Given the description of an element on the screen output the (x, y) to click on. 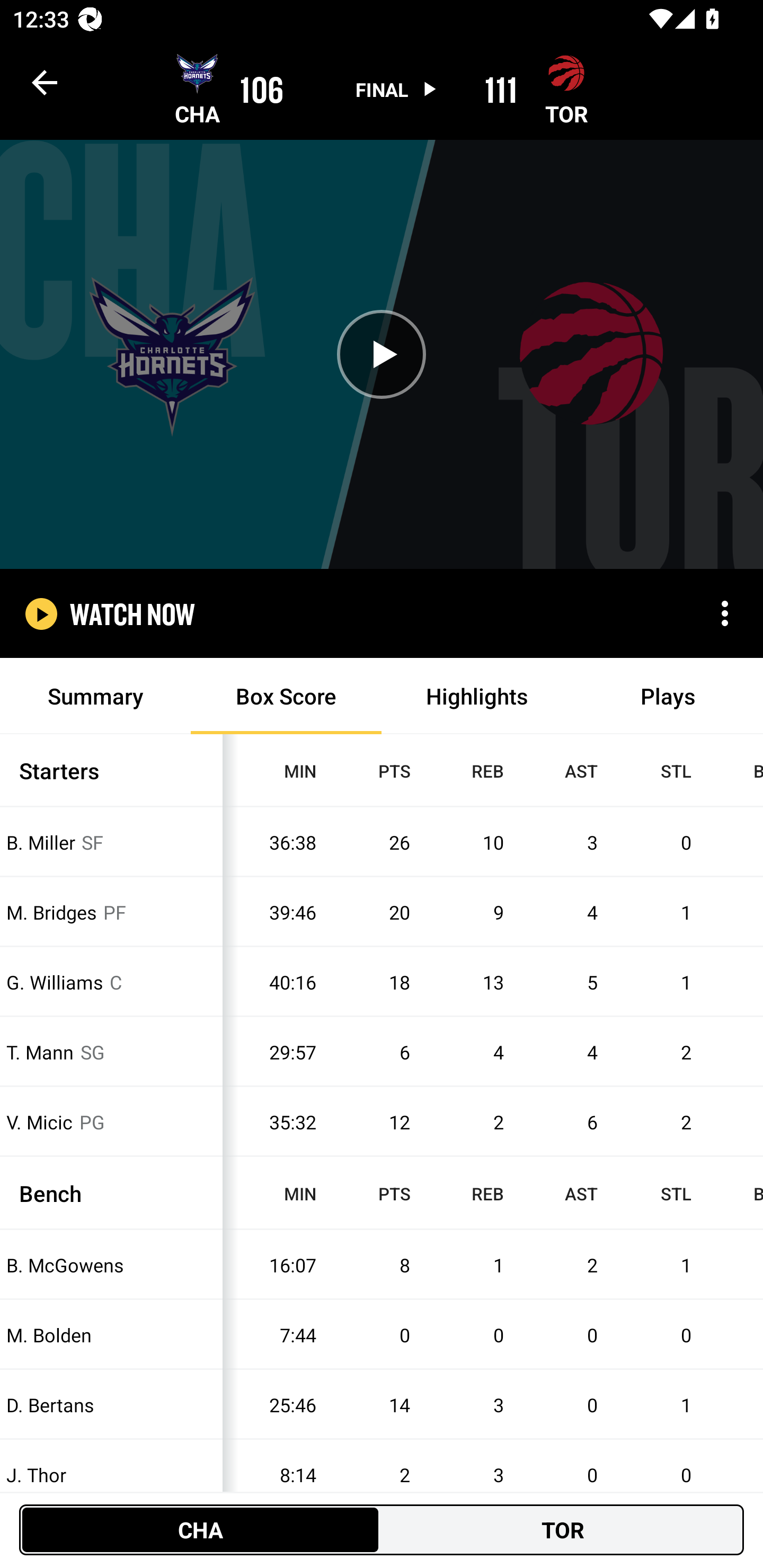
Navigate up (44, 82)
More options (724, 613)
WATCH NOW (132, 613)
Summary (95, 695)
Highlights (476, 695)
Plays (667, 695)
B. Miller SF (111, 841)
M. Bridges PF (111, 911)
G. Williams C (111, 982)
T. Mann SG (111, 1051)
V. Micic PG (111, 1121)
B. McGowens (111, 1264)
M. Bolden (111, 1334)
D. Bertans (111, 1404)
J. Thor (111, 1474)
TOR (562, 1529)
